Given the description of an element on the screen output the (x, y) to click on. 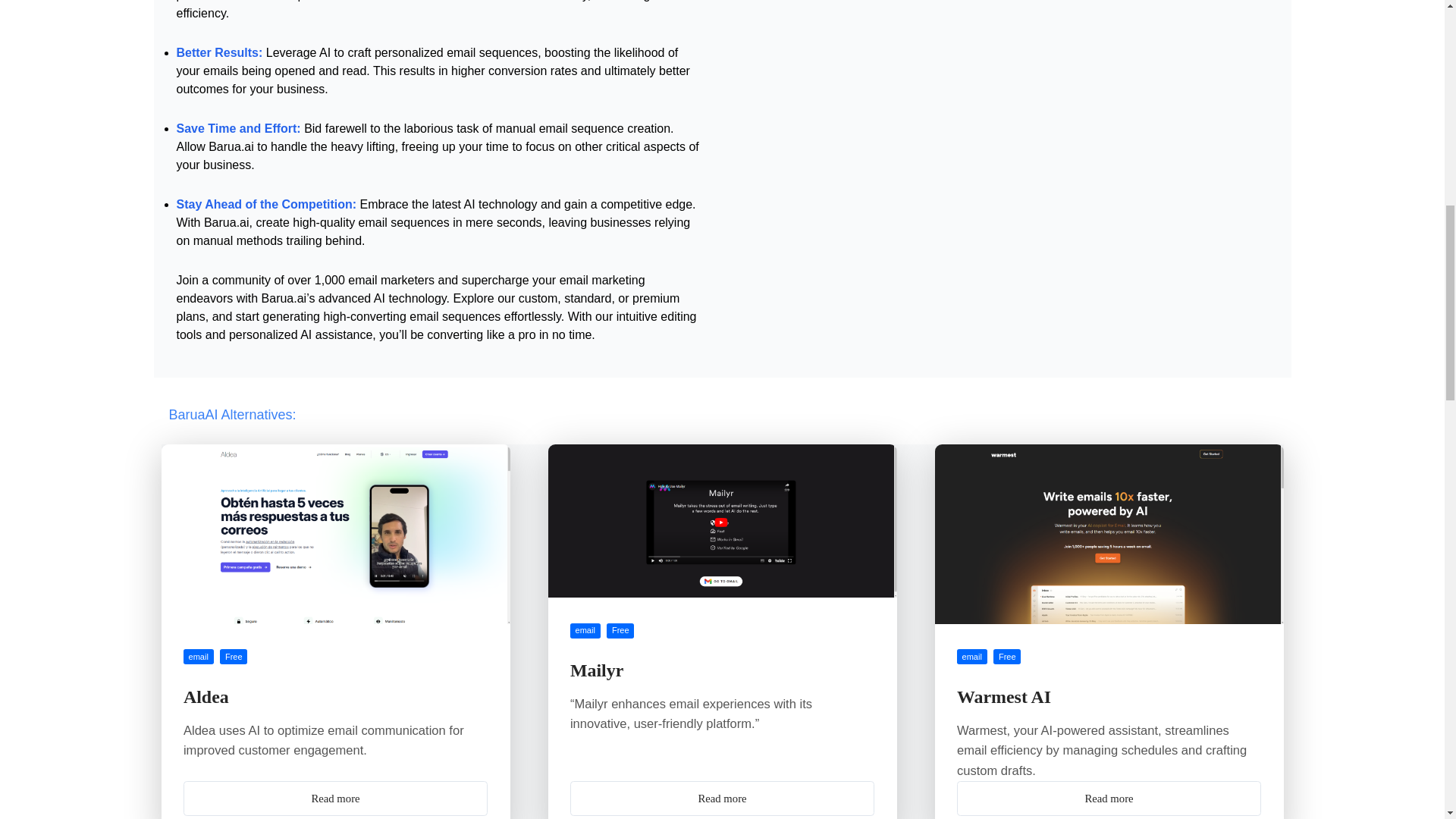
Free (1006, 656)
Read more (722, 798)
Read more (335, 798)
Aldea (205, 696)
Read more (1108, 798)
email (584, 630)
Free (233, 656)
Mailyr (596, 670)
Warmest AI (1003, 696)
email (971, 656)
Free (620, 630)
email (198, 656)
